Given the description of an element on the screen output the (x, y) to click on. 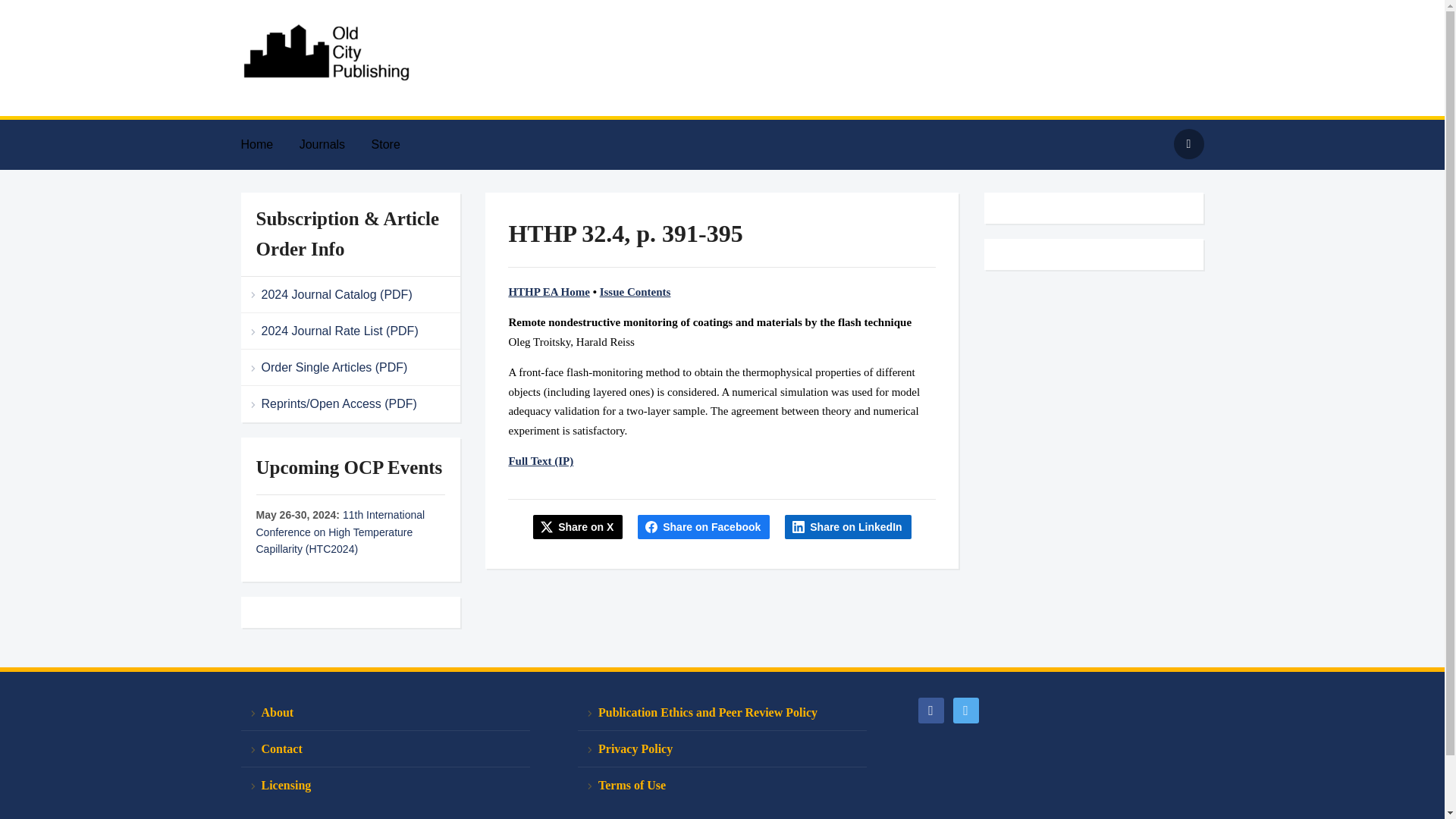
Search (1188, 143)
Publication Ethics and Peer Review Policy (722, 712)
Share on LinkedIn (847, 526)
HTHP EA Home (548, 291)
Terms of Use (722, 785)
Privacy Policy (722, 749)
Friend me on Facebook (930, 707)
Share on Facebook (703, 526)
Follow Me (965, 707)
Share this on Facebook (703, 526)
